Given the description of an element on the screen output the (x, y) to click on. 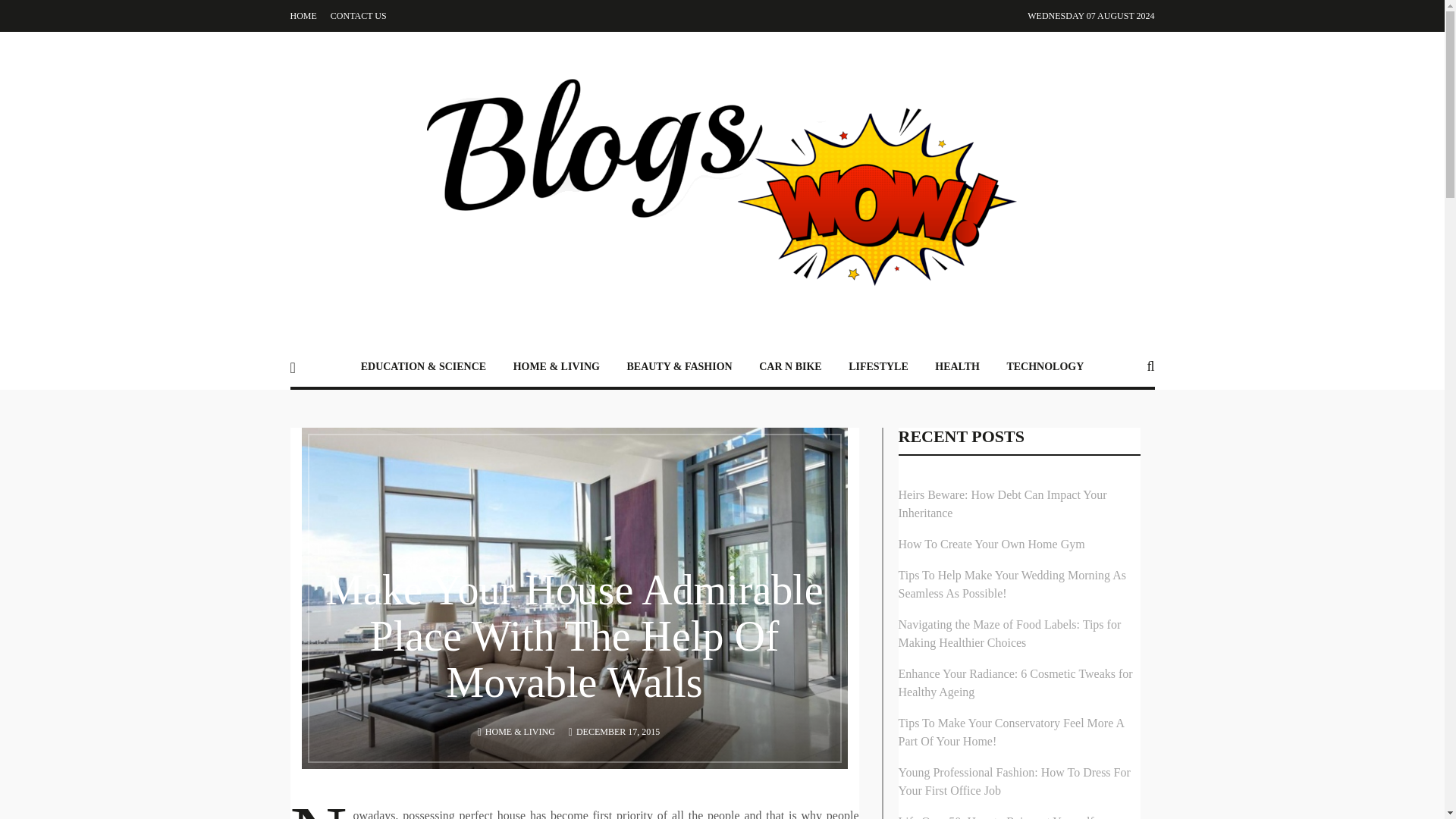
HOME (302, 15)
TECHNOLOGY (1045, 366)
CAR N BIKE (789, 366)
CONTACT US (358, 15)
LIFESTYLE (877, 366)
DECEMBER 17, 2015 (617, 731)
HEALTH (957, 366)
